Given the description of an element on the screen output the (x, y) to click on. 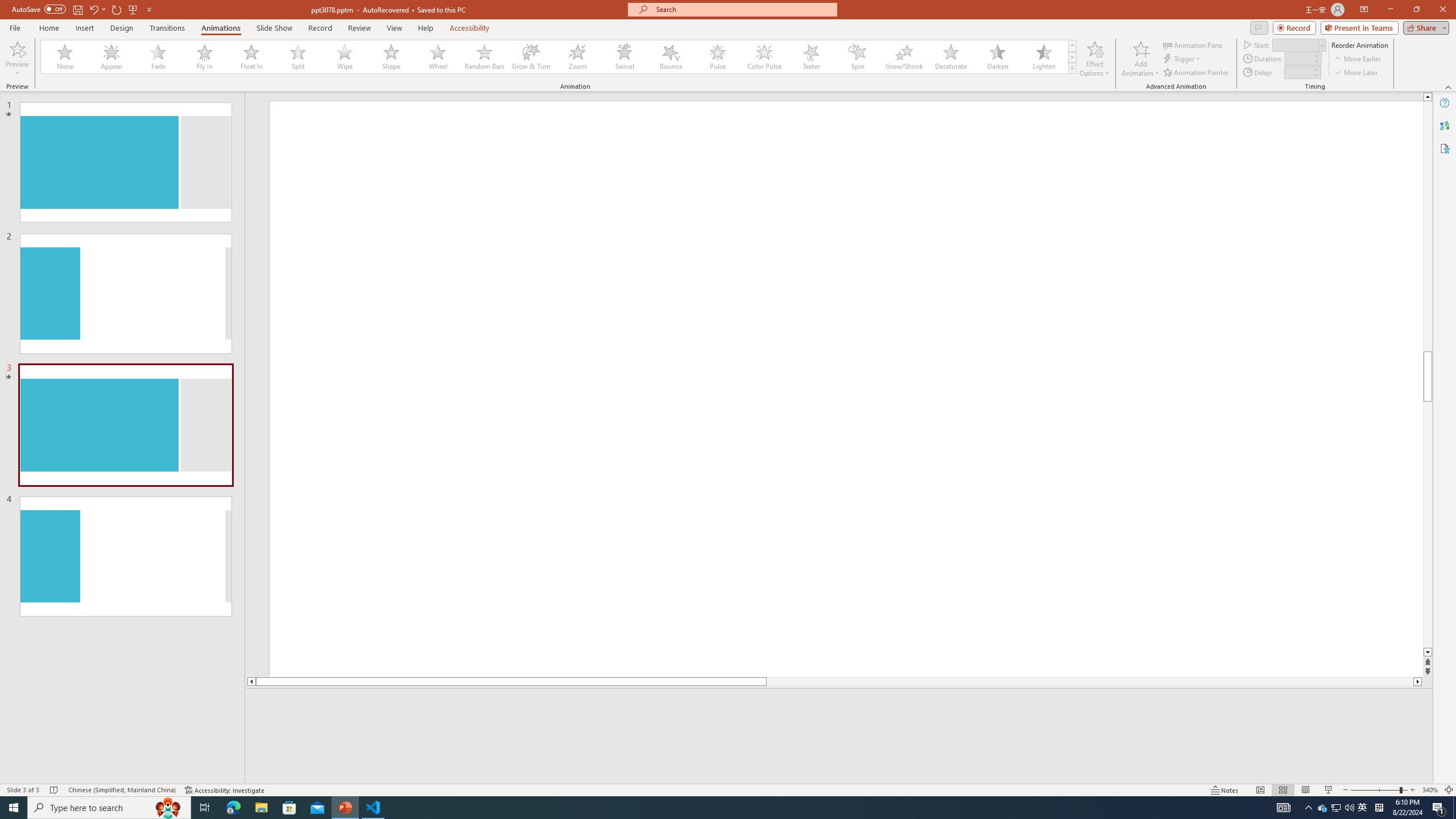
Swivel (624, 56)
Microsoft search (742, 9)
Preview (17, 48)
